Given the description of an element on the screen output the (x, y) to click on. 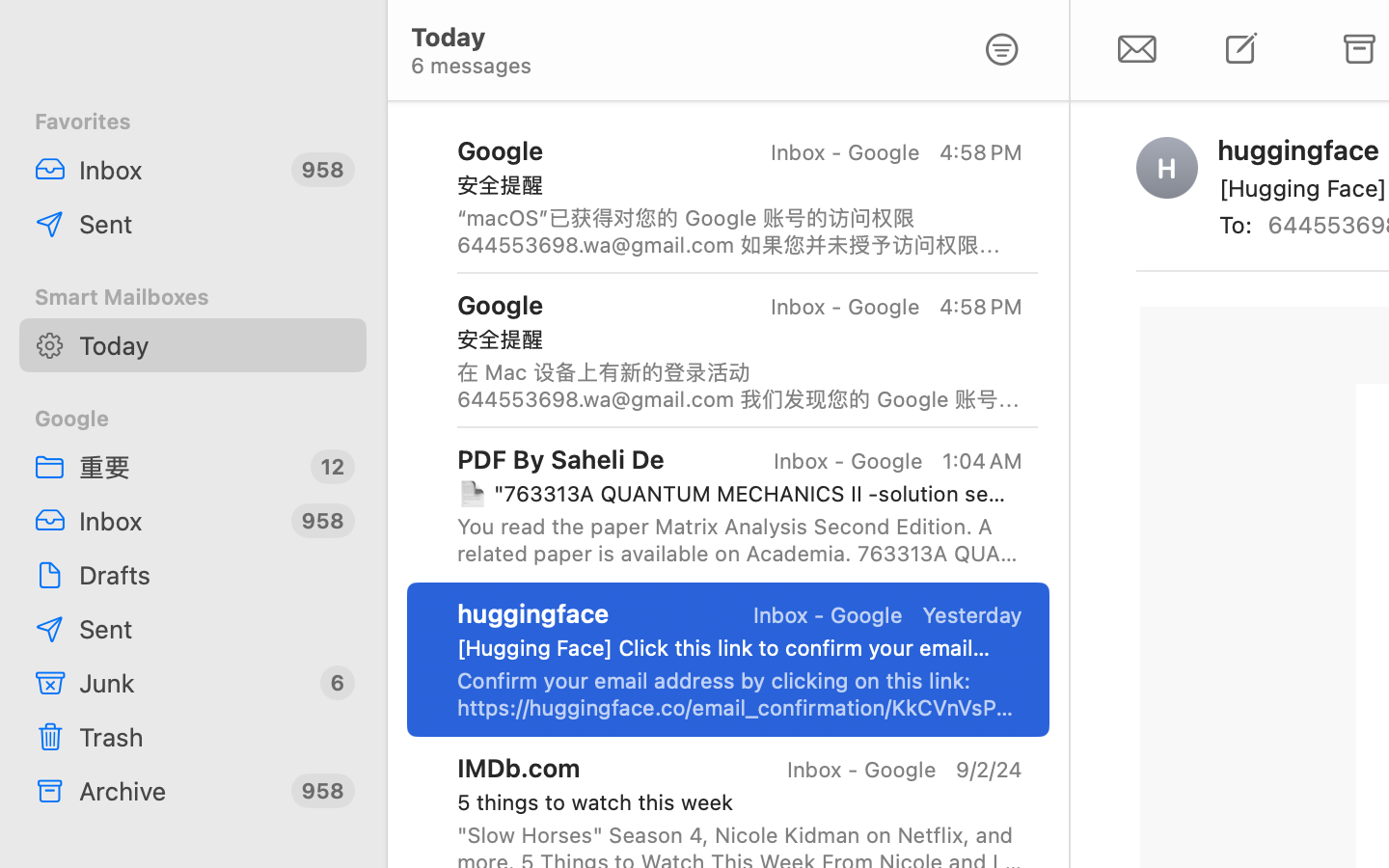
[Hugging Face] Click this link to confirm your email address Element type: AXStaticText (731, 647)
“macOS”已获得对您的 Google 账号的访问权限 644553698.wa@gmail.com 如果您并未授予访问权限，则应检查此活动，并确保您的账号安全。 查看活动 您也可以访问以下网址查看安全性活动： https://myaccount.google.com/notifications 我们向您发送这封电子邮件，目的是让您了解关于您的 Google 账号和服务的重大变化。 © 2024 Google LLC, 1600 Amphitheatre Parkway, Mountain View, CA 94043, USA Element type: AXStaticText (739, 231)
4:58 PM Element type: AXStaticText (980, 151)
Drafts Element type: AXStaticText (214, 574)
Yesterday Element type: AXStaticText (972, 614)
